Given the description of an element on the screen output the (x, y) to click on. 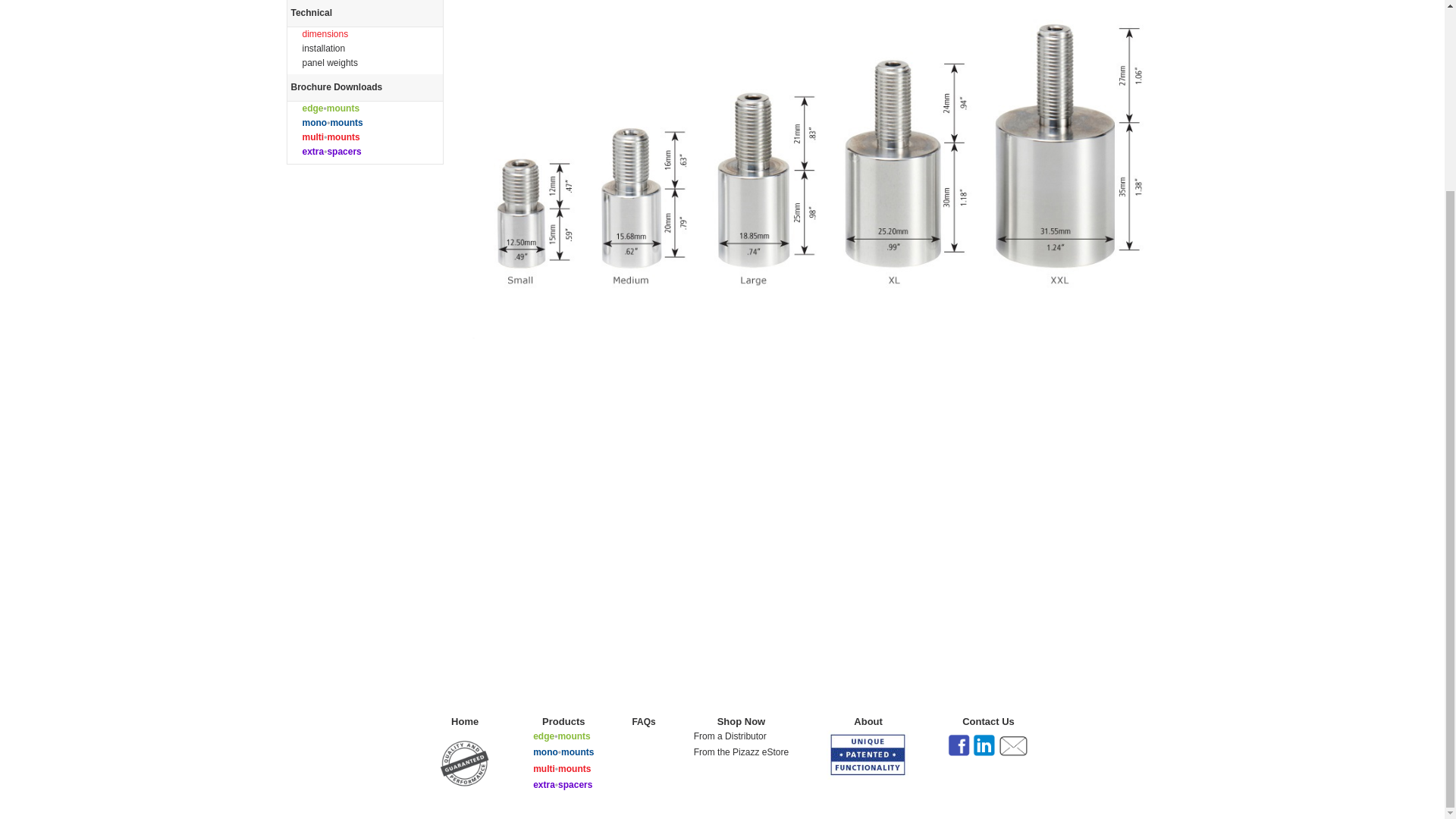
From the Pizazz eStore (741, 751)
installation (323, 48)
FAQs (643, 721)
panel weights (328, 62)
From a Distributor (730, 736)
dimensions (324, 33)
